Given the description of an element on the screen output the (x, y) to click on. 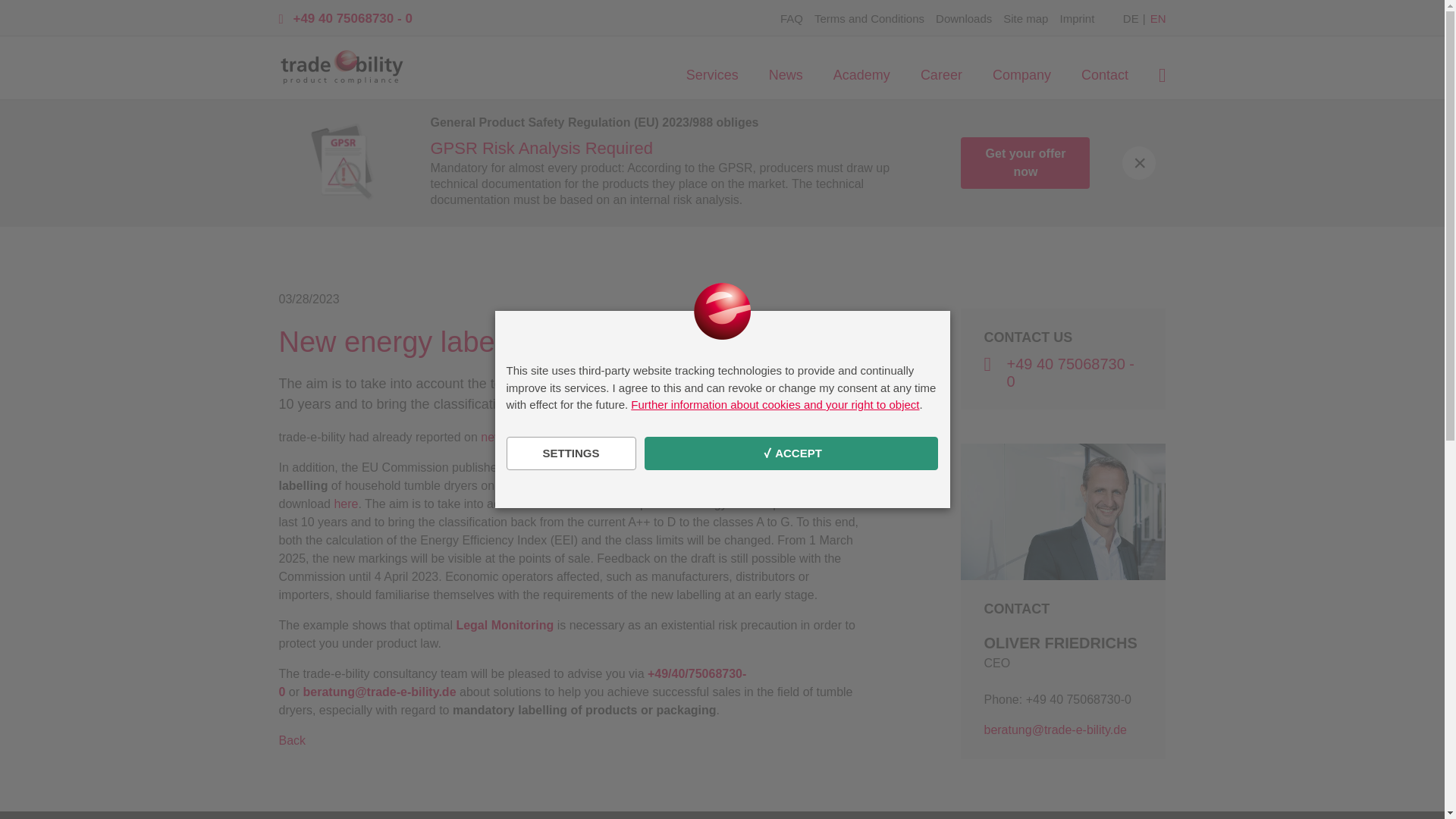
Services (712, 75)
Imprint (1076, 18)
DE (1130, 18)
EN (1158, 18)
Site map (1025, 18)
Downloads (963, 18)
FAQ (791, 18)
trade-e-bility (341, 67)
Terms and Conditions (868, 18)
